Given the description of an element on the screen output the (x, y) to click on. 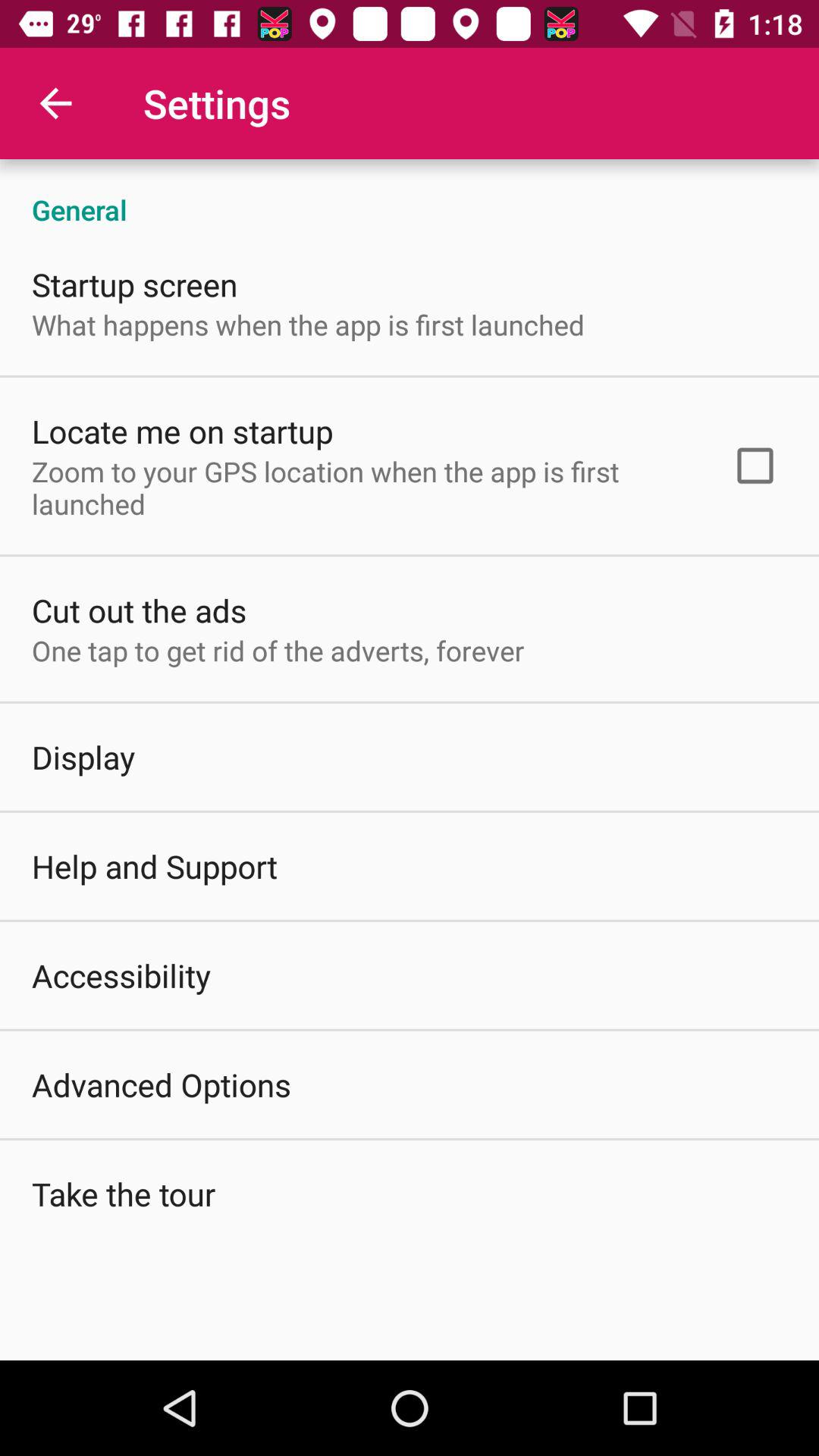
tap the item below the help and support icon (121, 975)
